Given the description of an element on the screen output the (x, y) to click on. 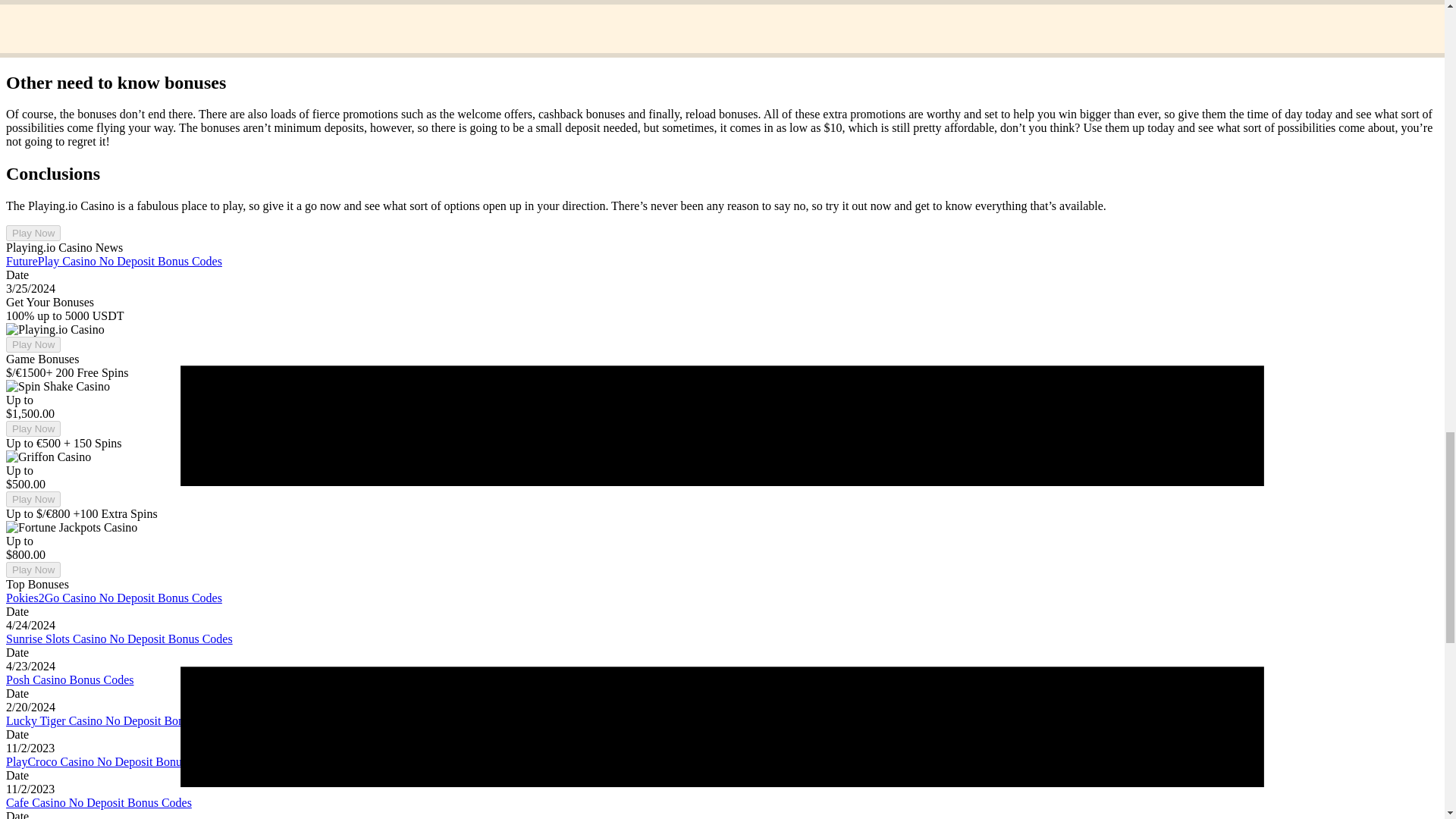
Play Now (33, 498)
Sunrise Slots Casino No Deposit Bonus Codes (118, 638)
FuturePlay Casino No Deposit Bonus Codes (113, 260)
Play Now (33, 428)
Lucky Tiger Casino No Deposit Bonus Codes (116, 720)
Posh Casino Bonus Codes (69, 679)
Play Now (33, 569)
PlayCroco Casino No Deposit Bonus Codes (112, 761)
Play Now (33, 344)
Pokies2Go Casino No Deposit Bonus Codes (113, 597)
Play Now (33, 232)
Cafe Casino No Deposit Bonus Codes (98, 802)
